Given the description of an element on the screen output the (x, y) to click on. 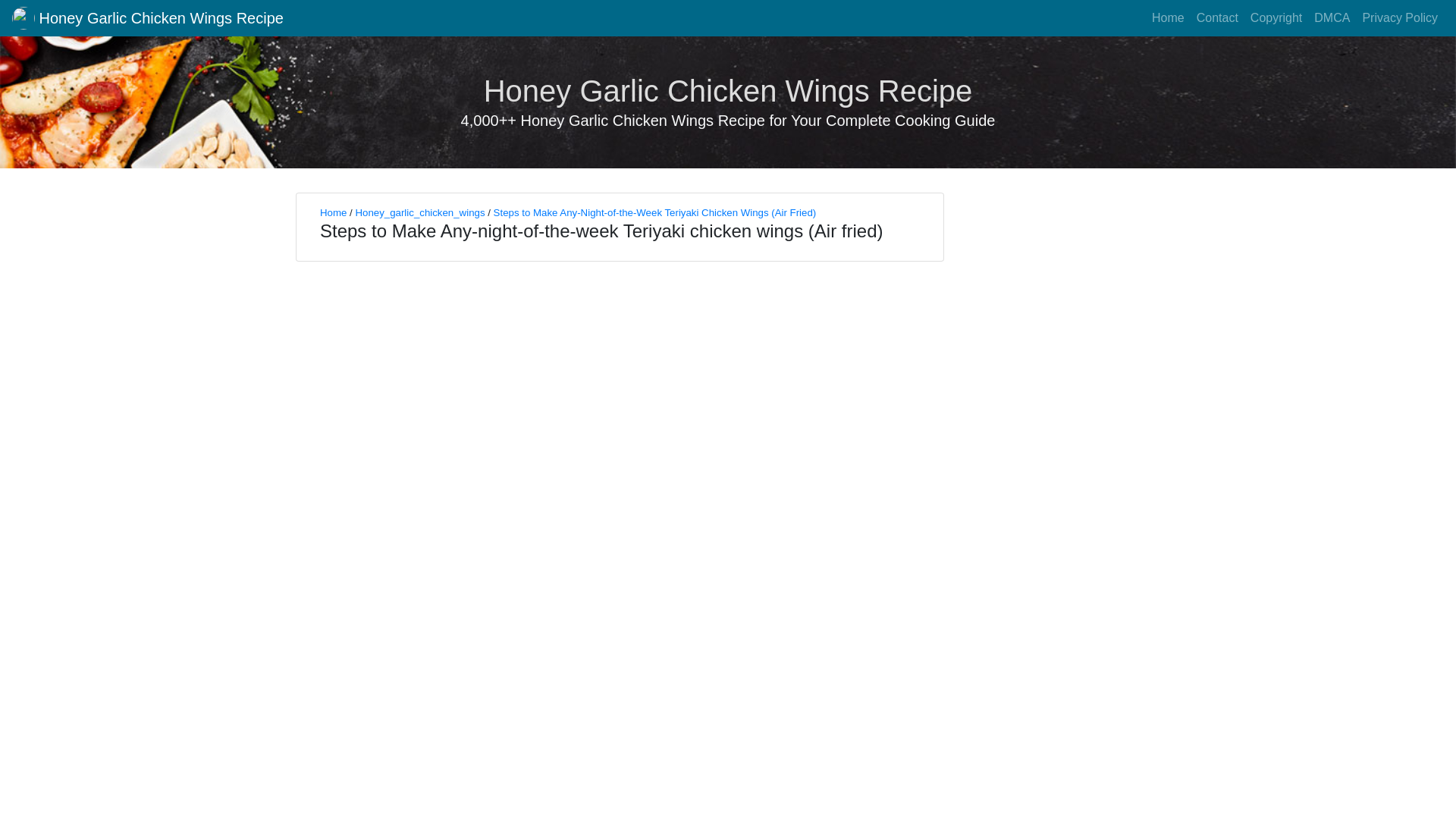
Honey Garlic Chicken Wings Recipe (727, 90)
DMCA (1331, 18)
Home (333, 212)
Contact (1217, 18)
Copyright (1275, 18)
Honey Garlic Chicken Wings Recipe (147, 18)
Privacy Policy (1399, 18)
Home (1168, 18)
